Given the description of an element on the screen output the (x, y) to click on. 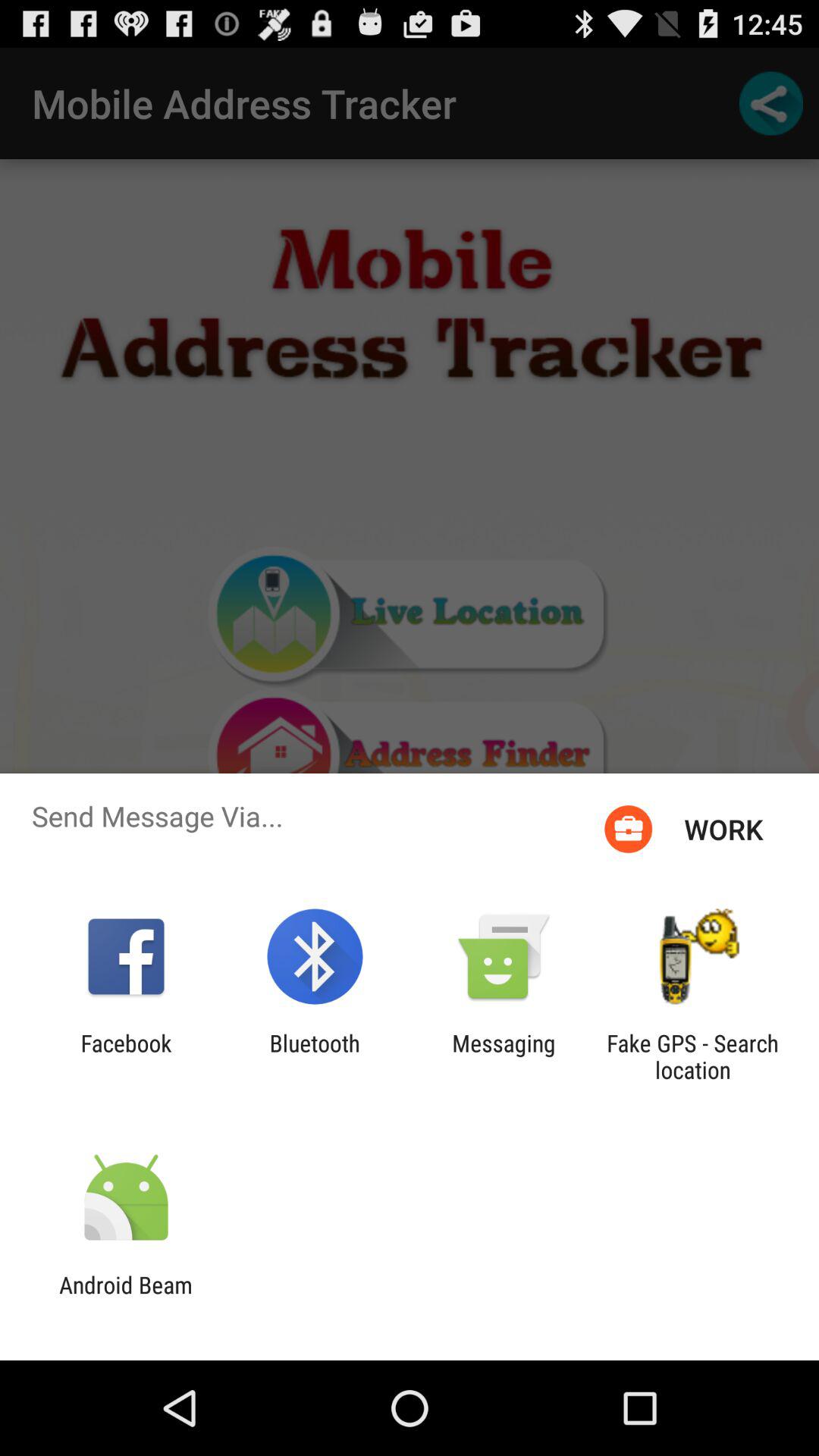
turn on the app to the right of bluetooth (503, 1056)
